Given the description of an element on the screen output the (x, y) to click on. 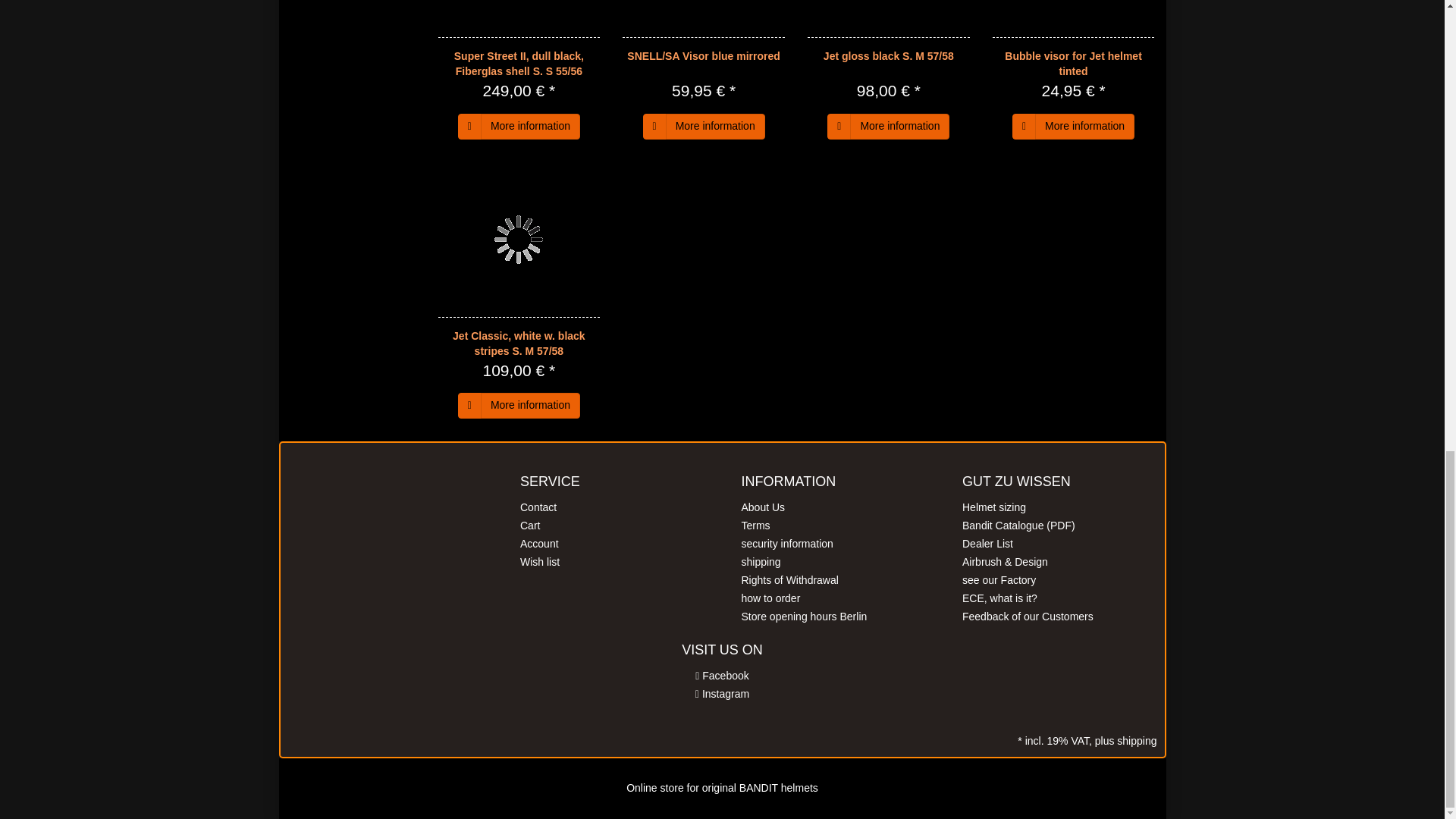
Bubble visor for Jet helmet tinted (1072, 62)
To cart (469, 126)
To cart (838, 126)
Bubble visor for Jet helmet tinted (1073, 18)
To cart (654, 126)
To cart (1023, 126)
